Given the description of an element on the screen output the (x, y) to click on. 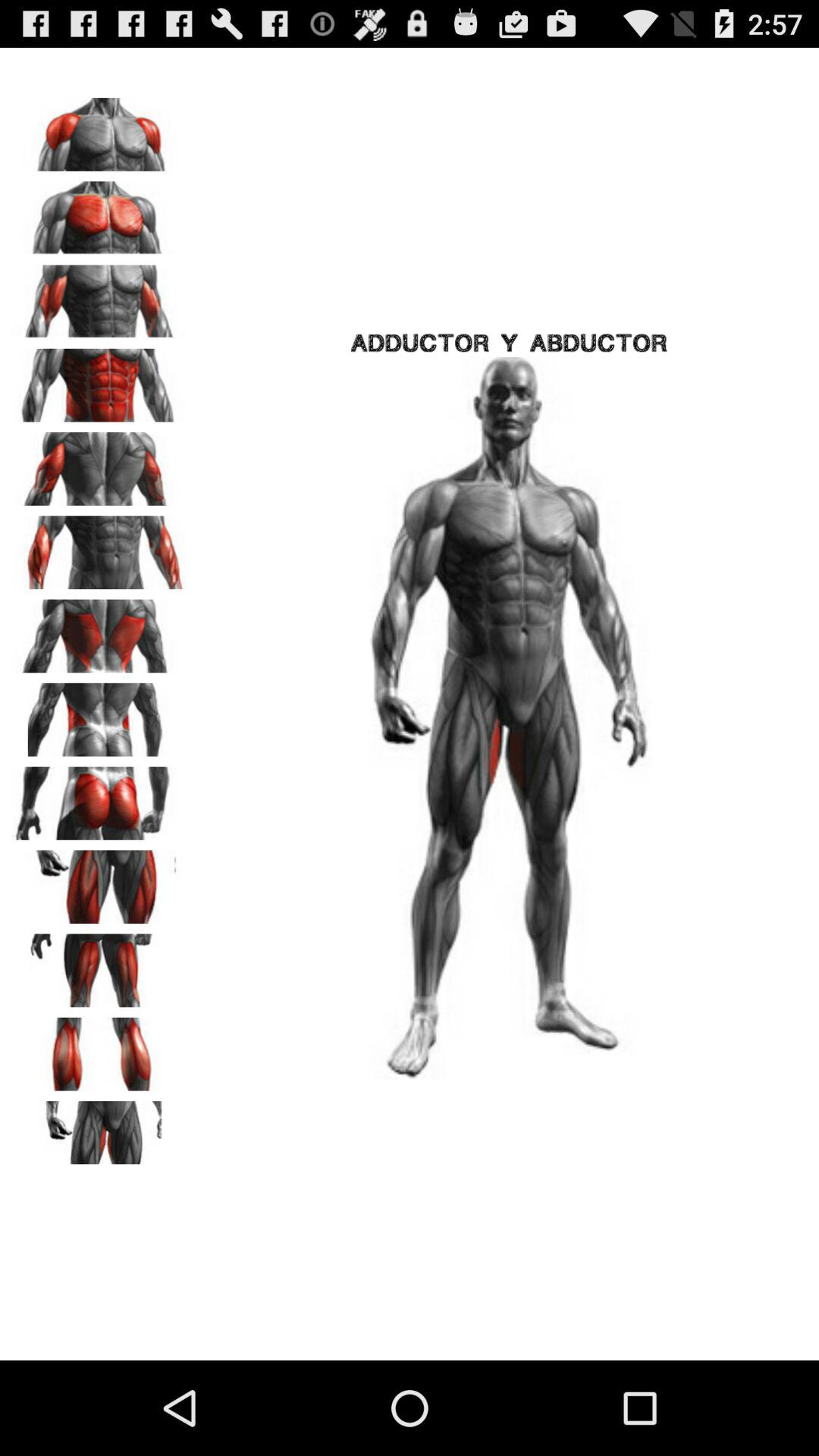
select forearms (99, 547)
